Given the description of an element on the screen output the (x, y) to click on. 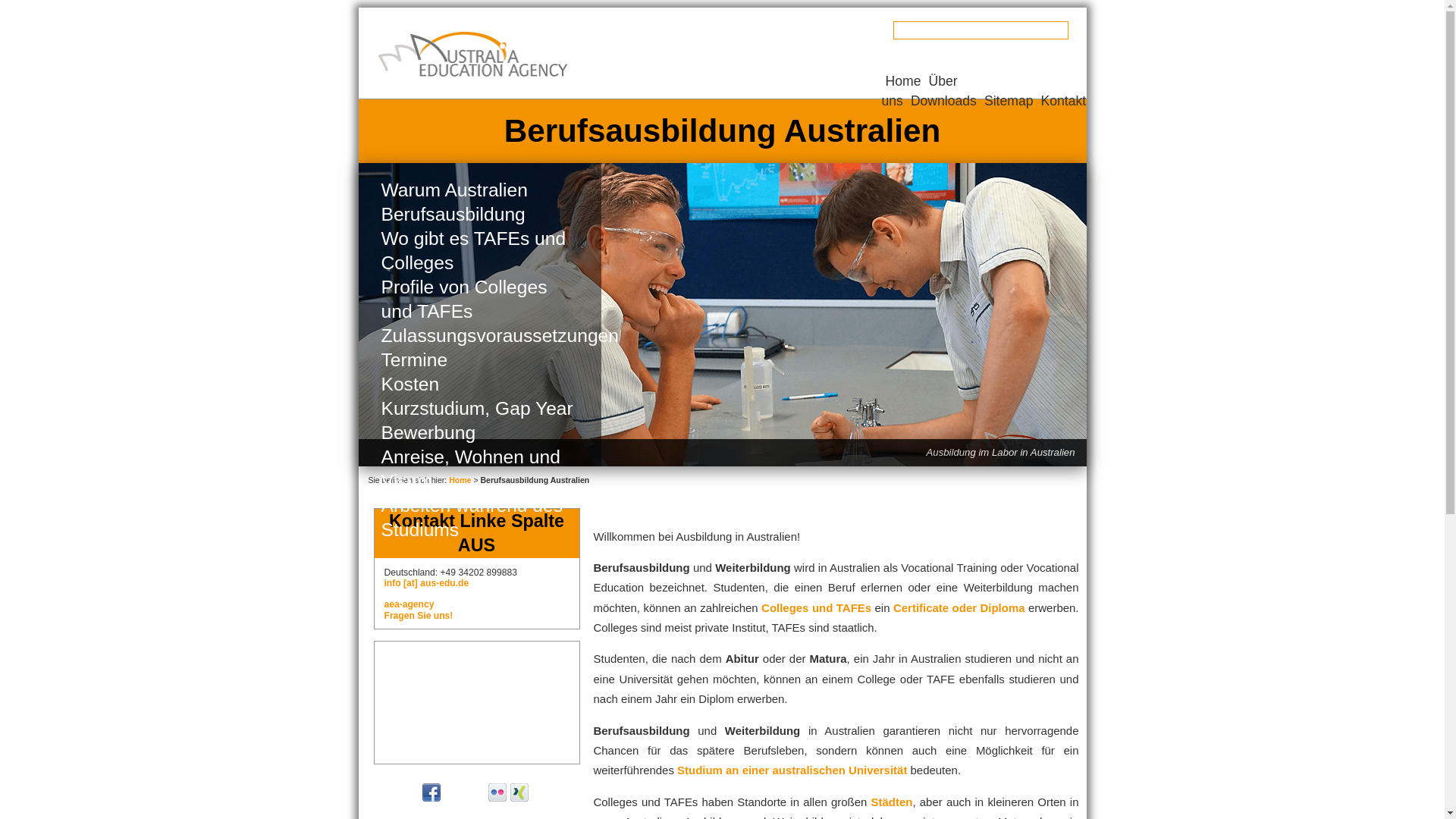
Downloads Element type: text (943, 100)
Zulassungsvoraussetzungen Element type: text (479, 335)
Kontakt Element type: text (1062, 100)
Zur Homepage der Australia Education Agency Element type: hover (472, 53)
Facebook Element type: text (430, 792)
Termine Element type: text (479, 360)
Kurzstudium, Gap Year Element type: text (479, 408)
Certificate oder Diploma Element type: text (959, 607)
aea-agency Element type: text (408, 604)
Home Element type: text (459, 479)
Home Element type: text (903, 80)
Bewerbung Element type: text (479, 432)
Wo gibt es TAFEs und Colleges Element type: text (479, 250)
Anreise, Wohnen und Visum Element type: text (479, 469)
Profile von Colleges und TAFEs Element type: text (479, 299)
Warum Australien Element type: text (479, 190)
Flickr Element type: text (497, 792)
Suchen Element type: text (28, 9)
LinkedIn Element type: text (541, 792)
Xing Element type: text (518, 792)
Twitter Element type: text (409, 792)
Colleges und TAFEs Element type: text (816, 607)
YouTube Element type: text (453, 792)
Tumblr Element type: text (474, 792)
info [at] aus-edu.de Element type: text (425, 582)
Kosten Element type: text (479, 384)
Ausbildung im Labor in Australien Element type: hover (721, 314)
Sitemap Element type: text (1008, 100)
Fragen Sie uns! Element type: text (417, 615)
Berufsausbildung Element type: text (479, 214)
